Given the description of an element on the screen output the (x, y) to click on. 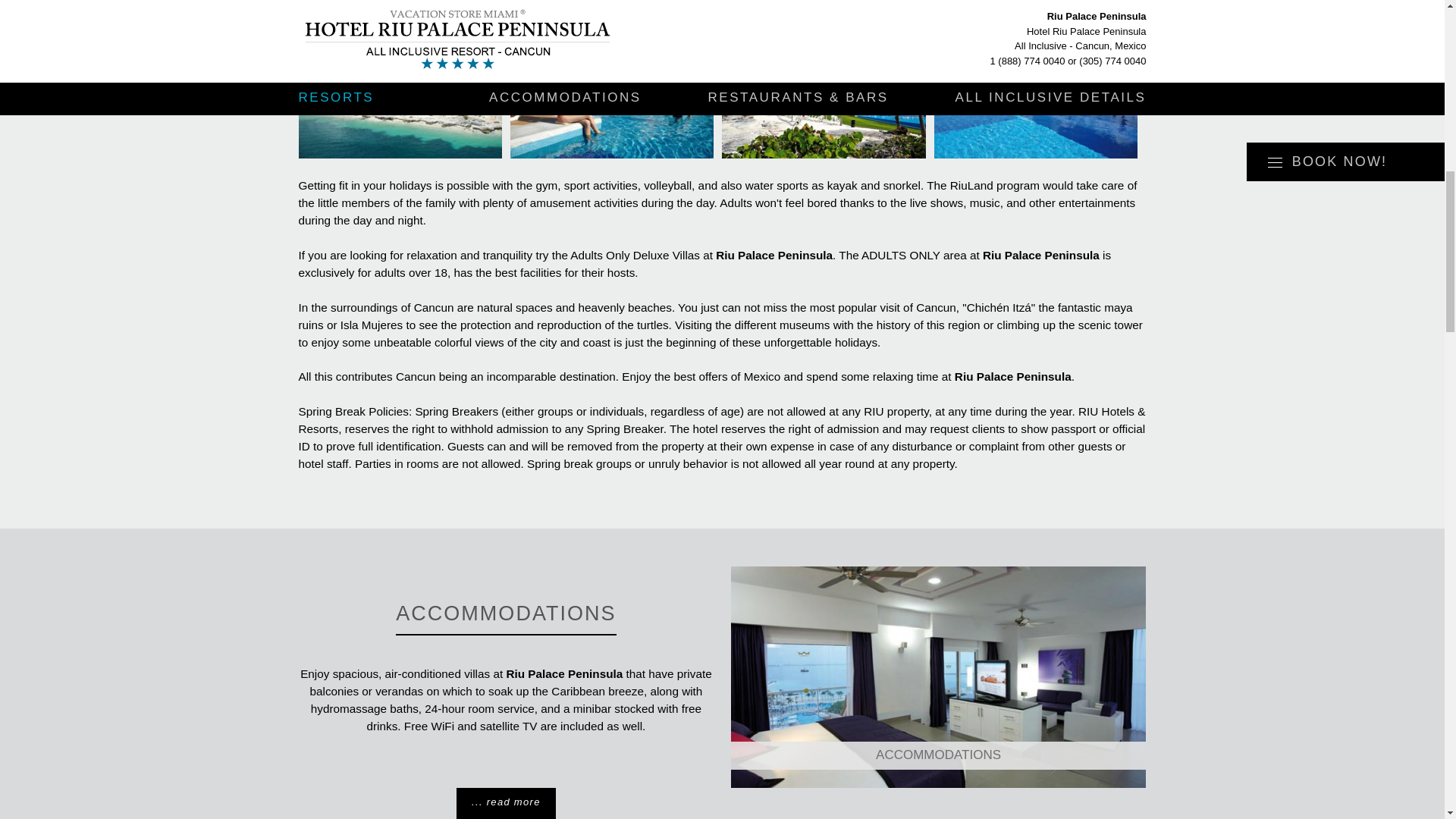
Riu Palace Peninsula - All Inclusive - Cancun, Mexico (400, 90)
